Given the description of an element on the screen output the (x, y) to click on. 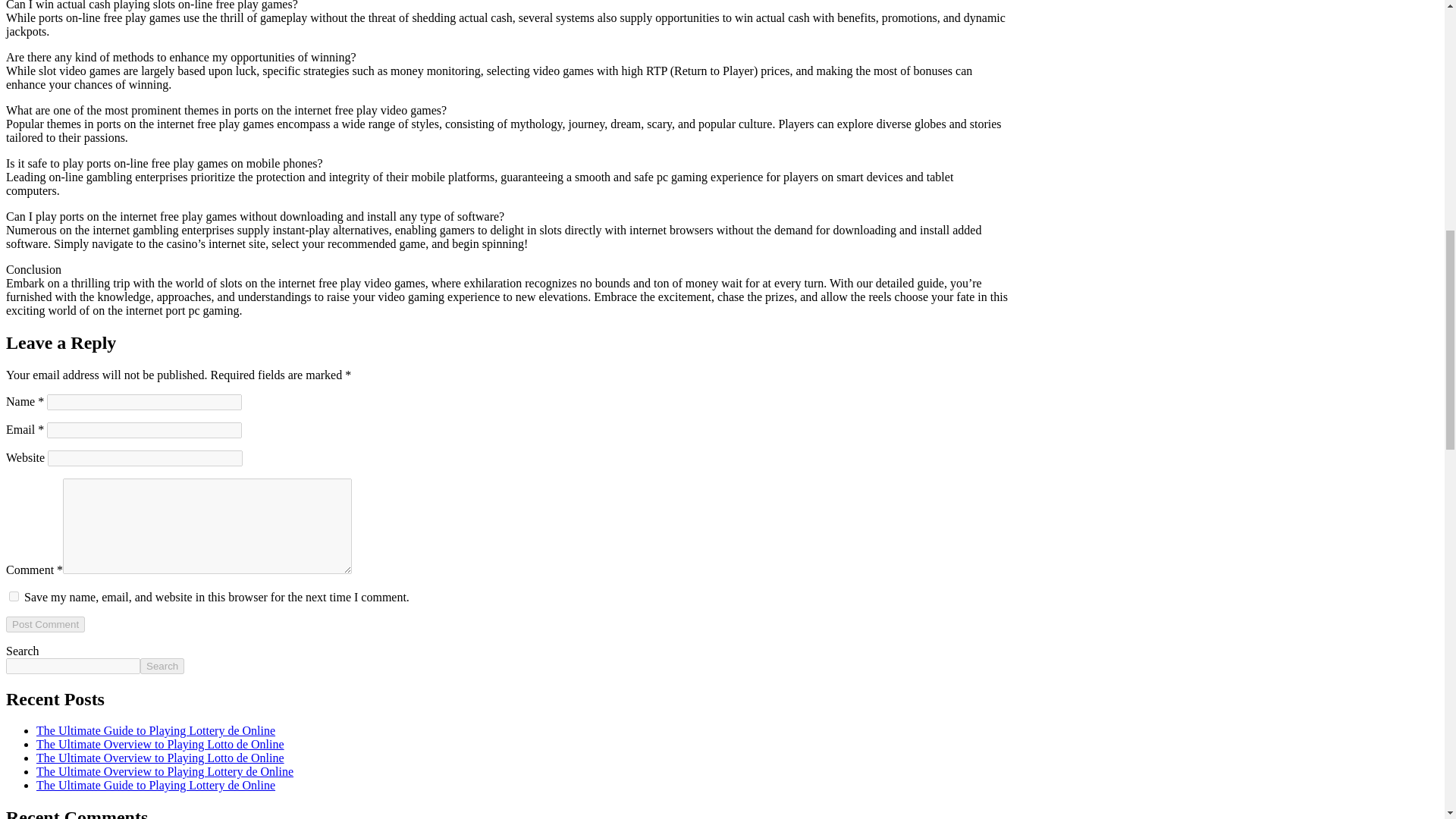
The Ultimate Overview to Playing Lotto de Online (159, 757)
Post Comment (44, 624)
The Ultimate Guide to Playing Lottery de Online (155, 730)
yes (13, 596)
The Ultimate Overview to Playing Lotto de Online (159, 744)
The Ultimate Overview to Playing Lottery de Online (165, 771)
Search (161, 666)
Post Comment (44, 624)
The Ultimate Guide to Playing Lottery de Online (155, 784)
